Given the description of an element on the screen output the (x, y) to click on. 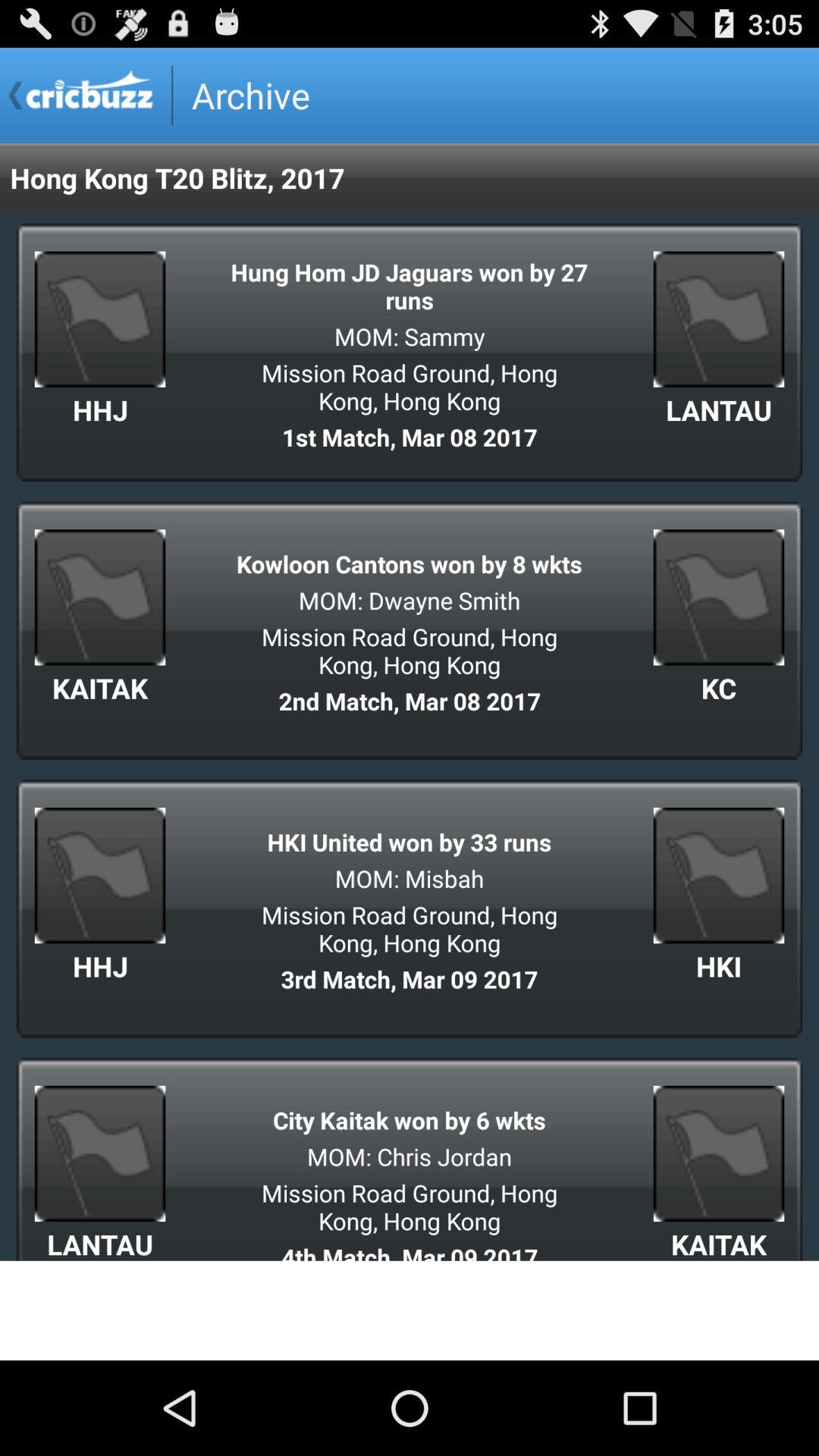
open icon above the mom: dwayne smith (409, 563)
